Given the description of an element on the screen output the (x, y) to click on. 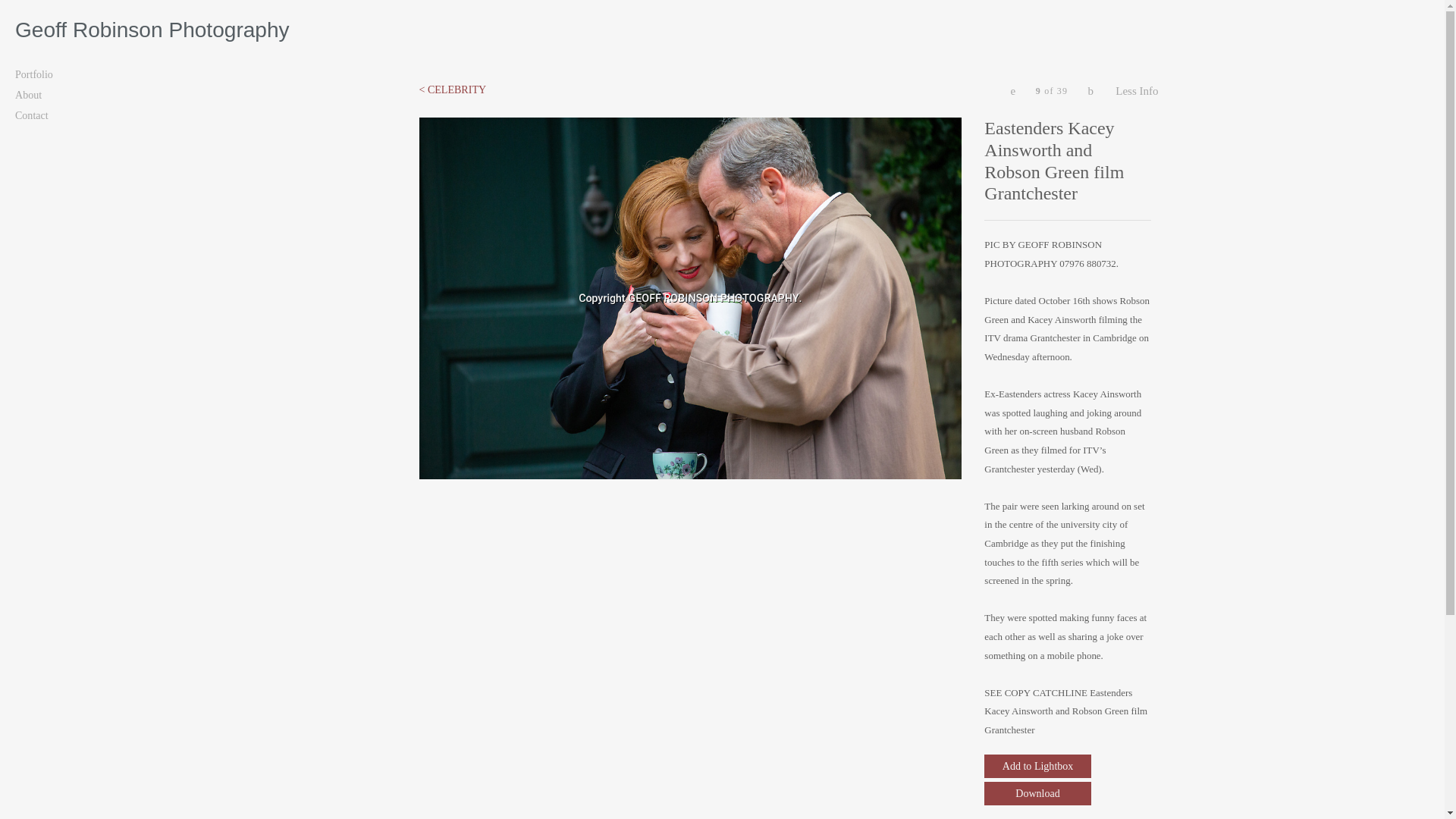
Contact (75, 115)
Add to Lightbox (1037, 766)
Geoff Robinson Photography (721, 30)
Info (1138, 90)
About (75, 94)
CELEBRITY (452, 89)
Info (1138, 90)
Geoff Robinson Photography (721, 30)
Download (1037, 793)
Portfolio (75, 74)
